Given the description of an element on the screen output the (x, y) to click on. 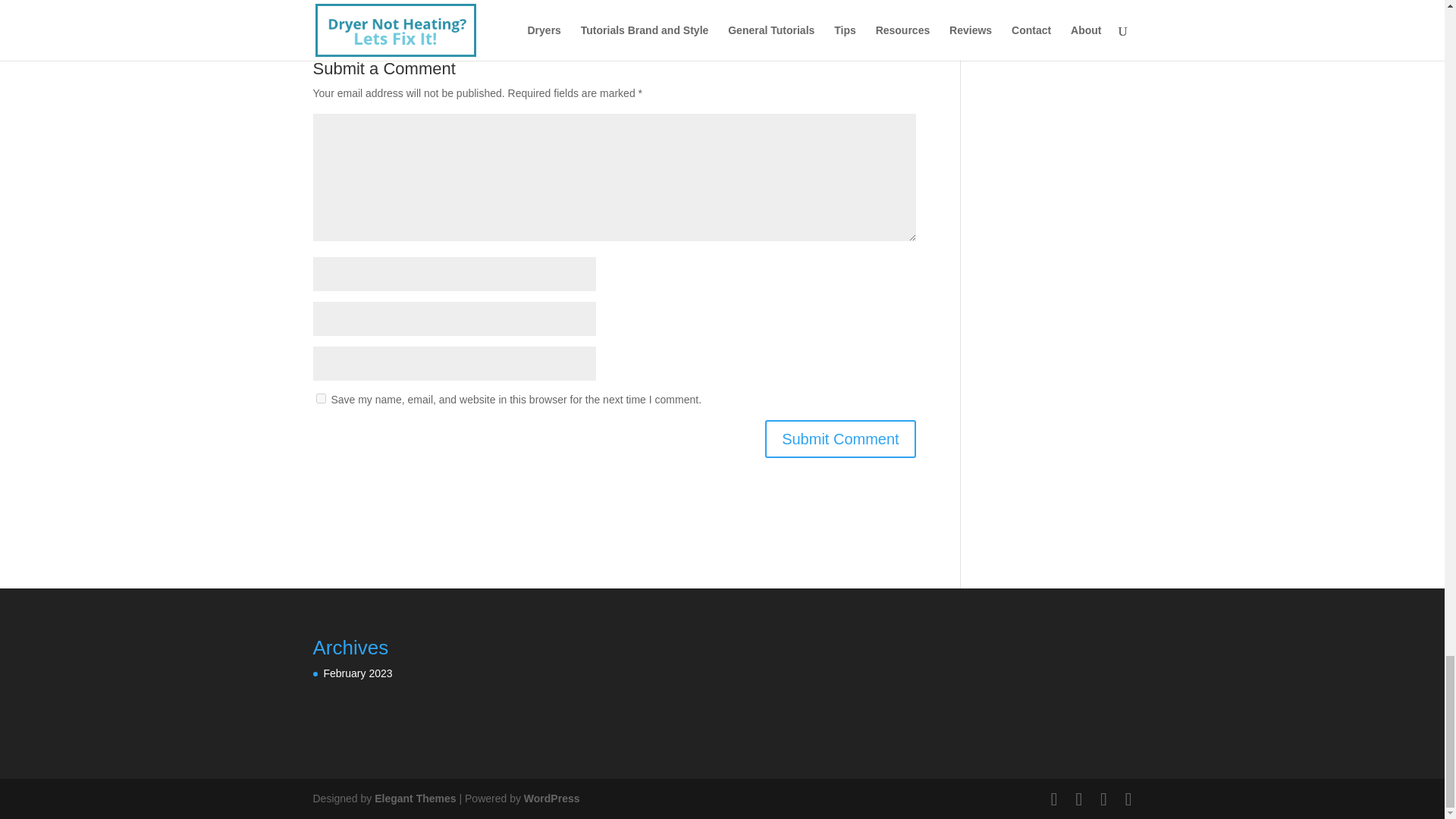
yes (319, 398)
Submit Comment (840, 438)
Submit Comment (840, 438)
Premium WordPress Themes (414, 798)
